Given the description of an element on the screen output the (x, y) to click on. 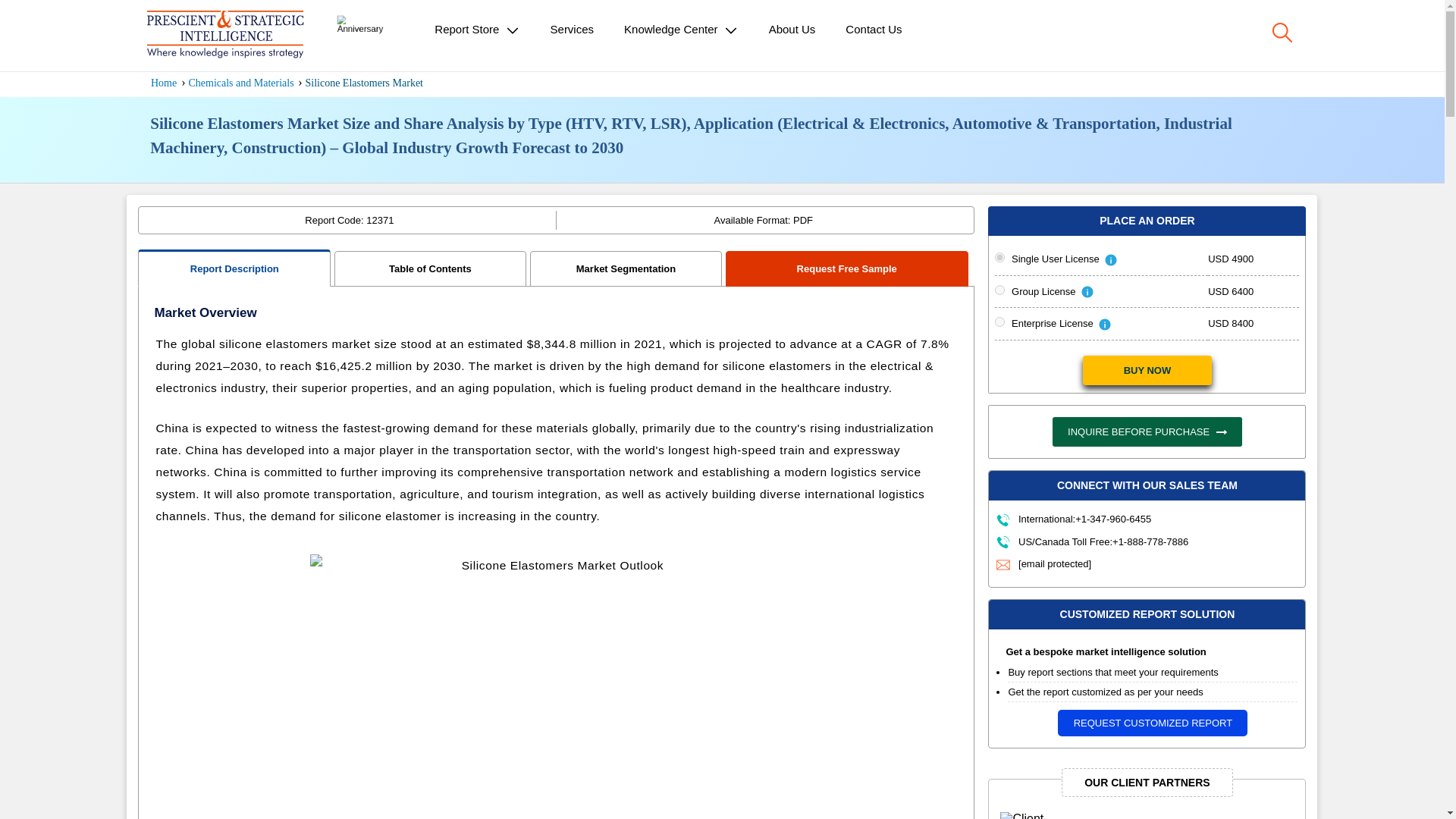
Chemicals and Materials (242, 82)
BUY NOW (1147, 369)
8811 (999, 257)
Contact Us (873, 28)
Request Free Sample (847, 268)
INQUIRE BEFORE PURCHASE (1146, 431)
Report Store (476, 30)
8812 (999, 289)
8813 (999, 321)
Services (572, 28)
